Given the description of an element on the screen output the (x, y) to click on. 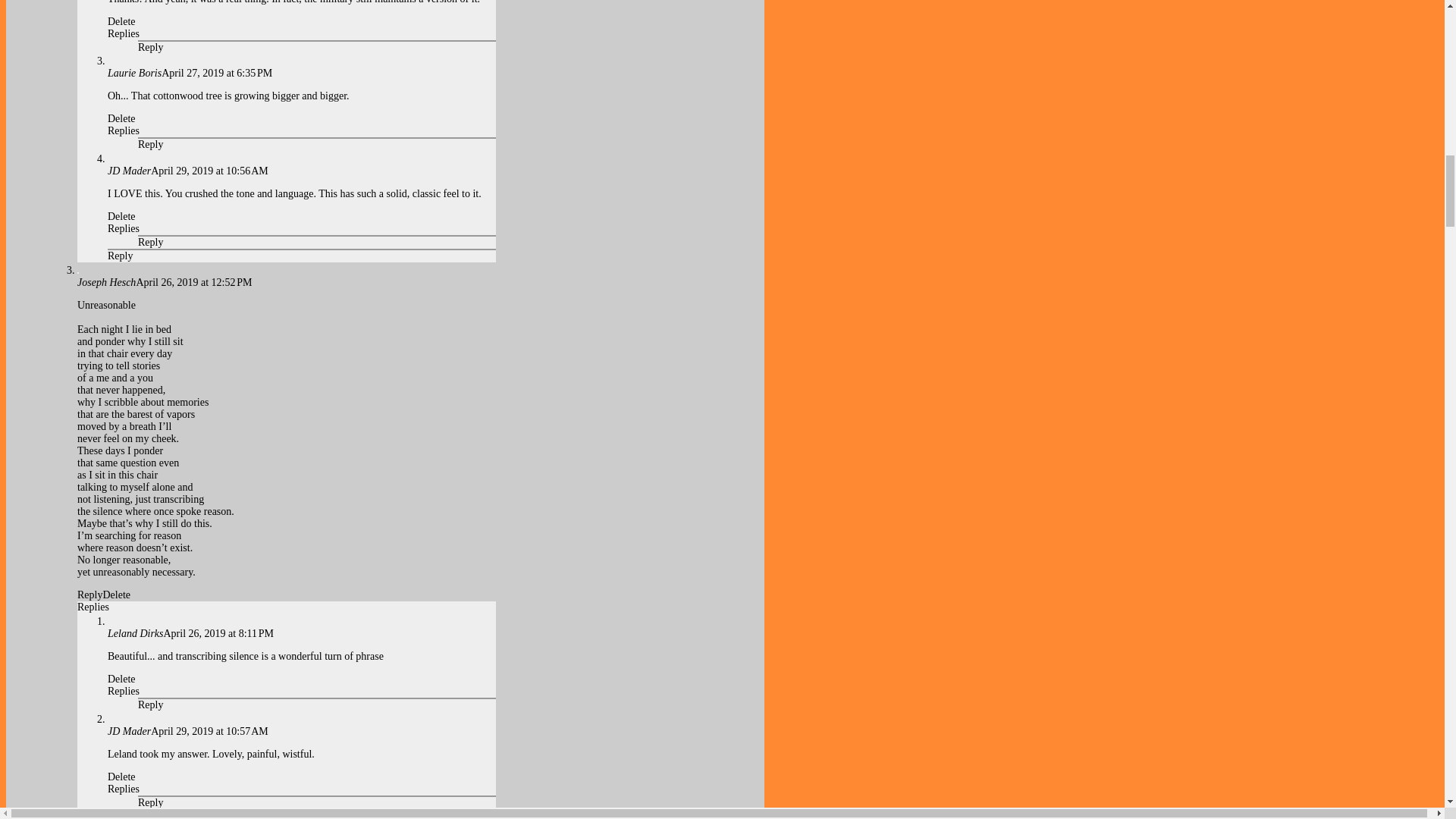
Replies (123, 130)
Delete (121, 21)
Delete (121, 118)
Reply (150, 47)
Laurie Boris (134, 72)
Reply (150, 143)
Replies (123, 33)
